Given the description of an element on the screen output the (x, y) to click on. 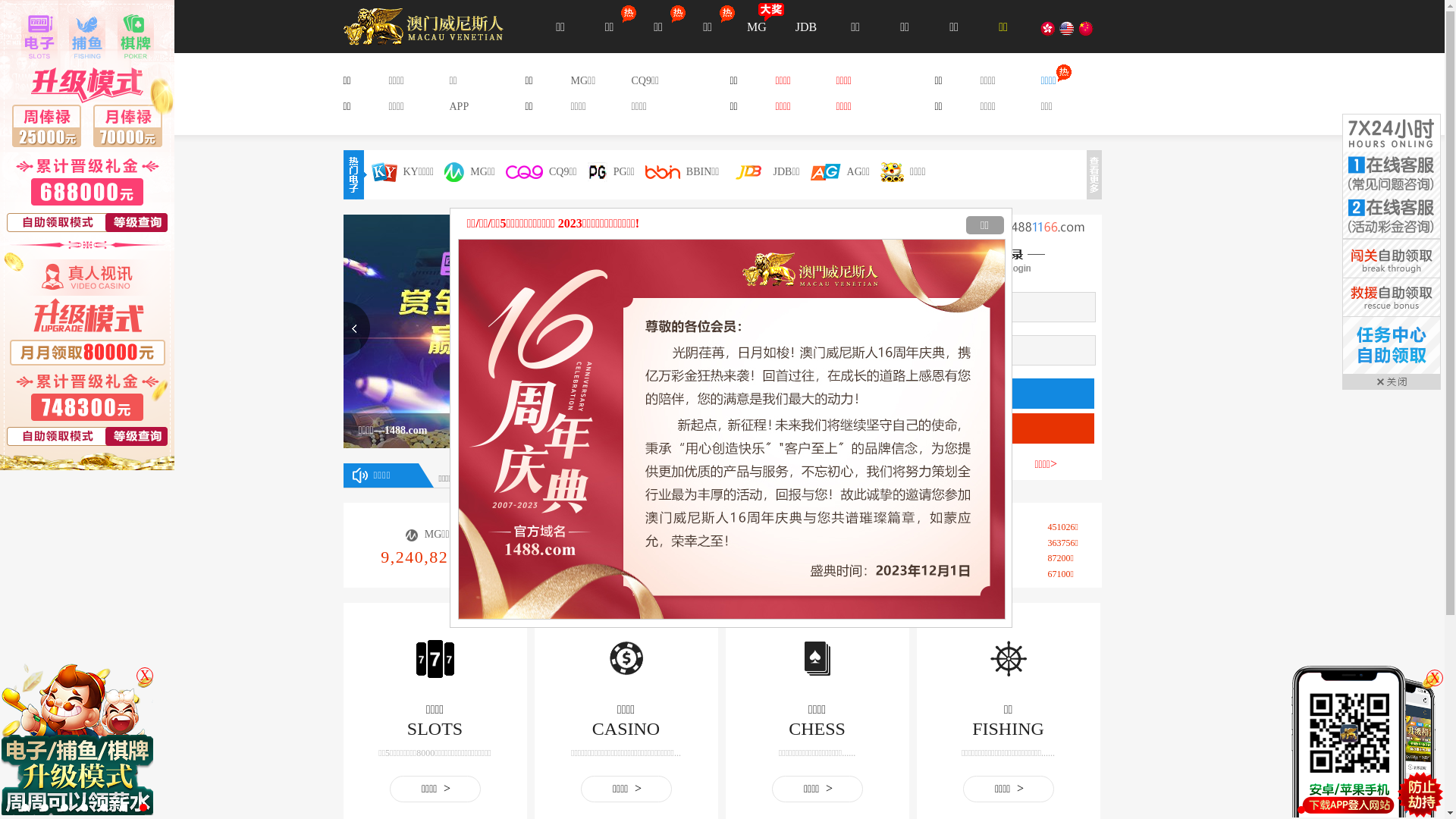
X Element type: text (144, 675)
APP Element type: text (458, 106)
JDB Element type: text (805, 26)
X Element type: text (1434, 677)
0 Element type: text (1161, 331)
MG Element type: text (756, 26)
